Given the description of an element on the screen output the (x, y) to click on. 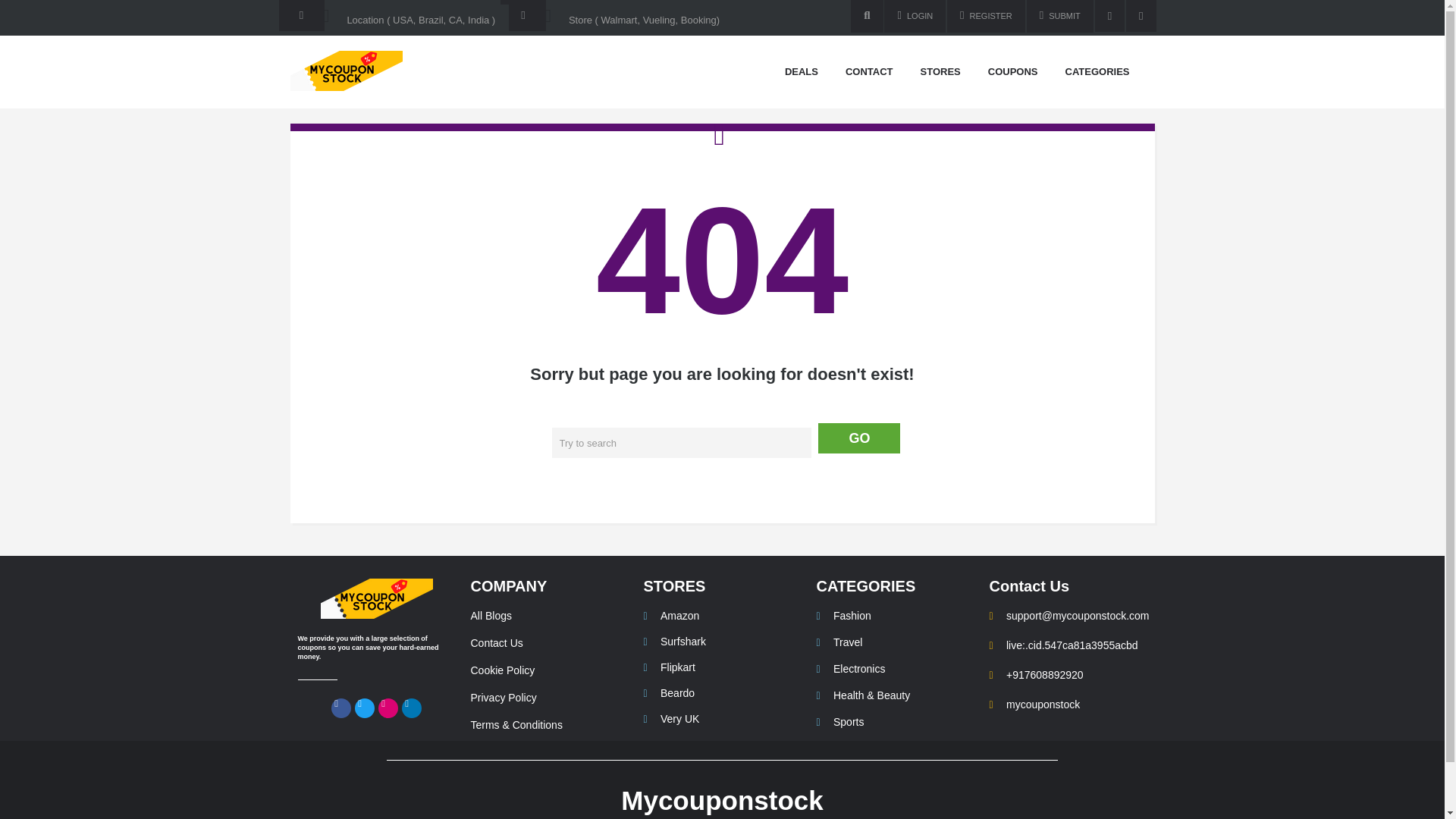
STORES (940, 71)
CATEGORIES (1097, 71)
Cookie Policy (548, 670)
Fashion (894, 616)
COUPONS (1012, 71)
Privacy Policy (548, 698)
Stores (940, 71)
Flipkart (721, 667)
All Blogs (548, 616)
STORES (673, 586)
CONTACT (869, 71)
Surfshark (721, 642)
Travel (894, 642)
REGISTER (986, 16)
DEALS (801, 71)
